Given the description of an element on the screen output the (x, y) to click on. 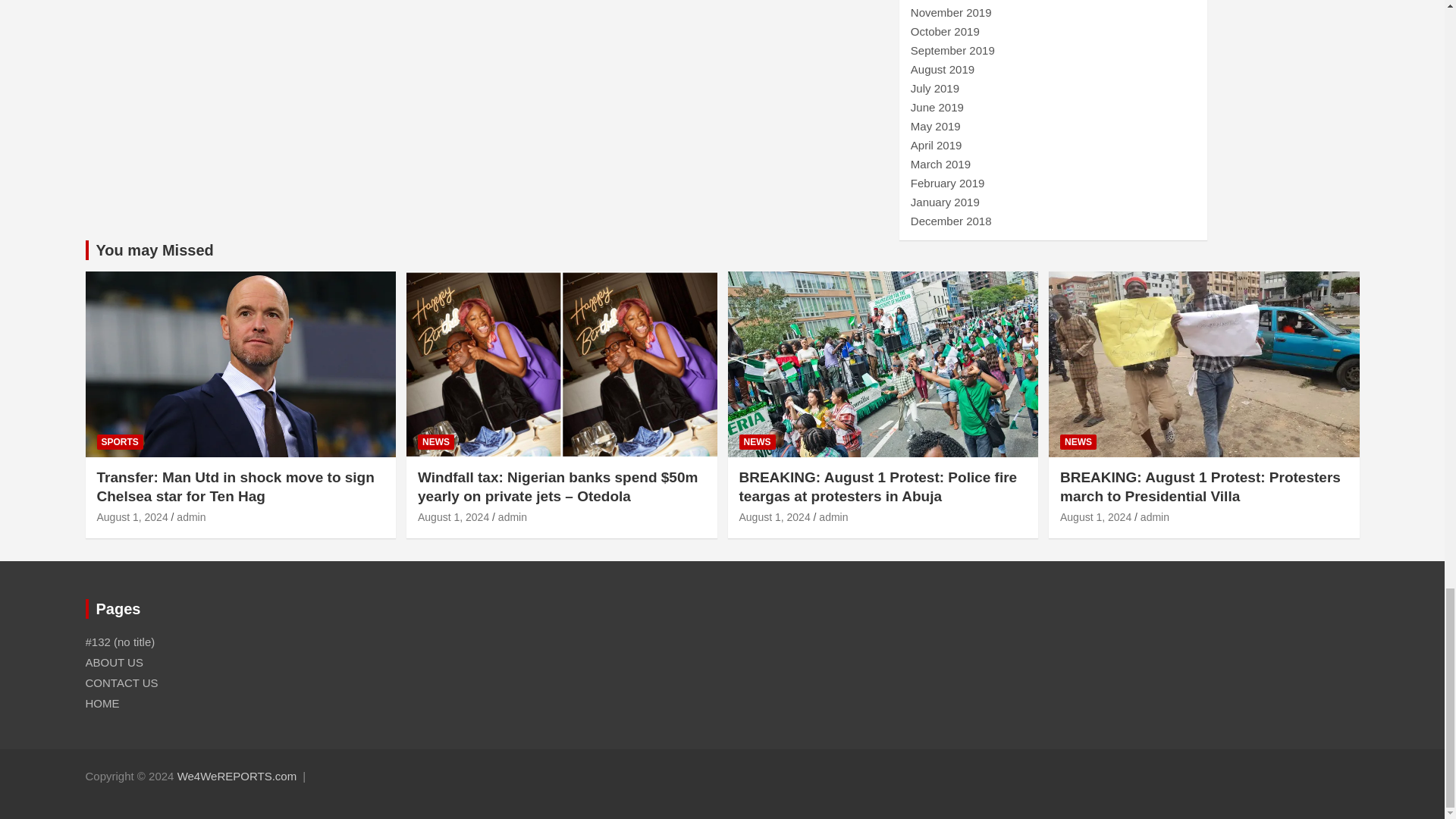
We4WeREPORTS.com (237, 775)
